Given the description of an element on the screen output the (x, y) to click on. 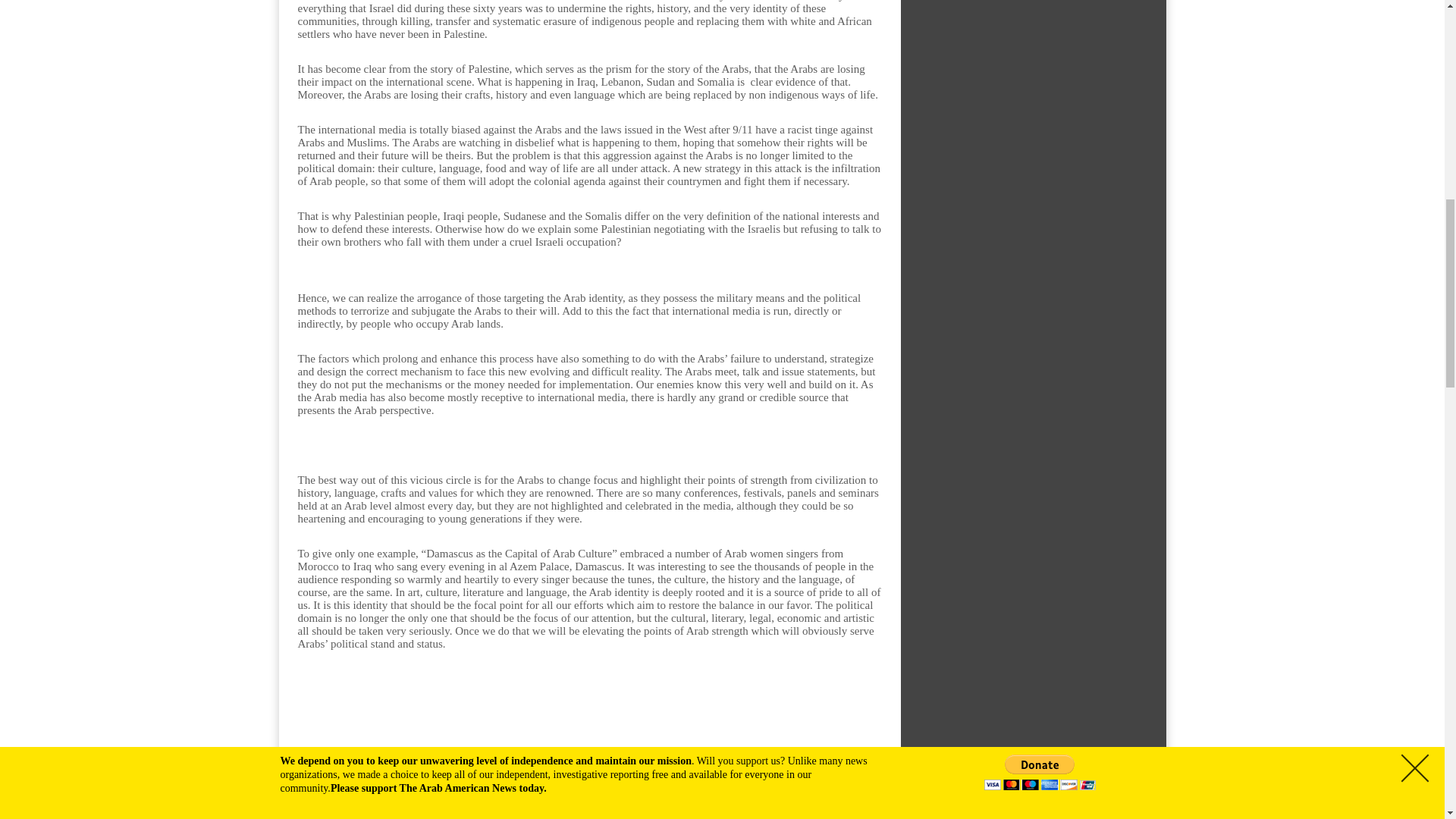
3rd party ad content (1032, 24)
3rd party ad content (1032, 167)
3rd party ad content (588, 732)
